Given the description of an element on the screen output the (x, y) to click on. 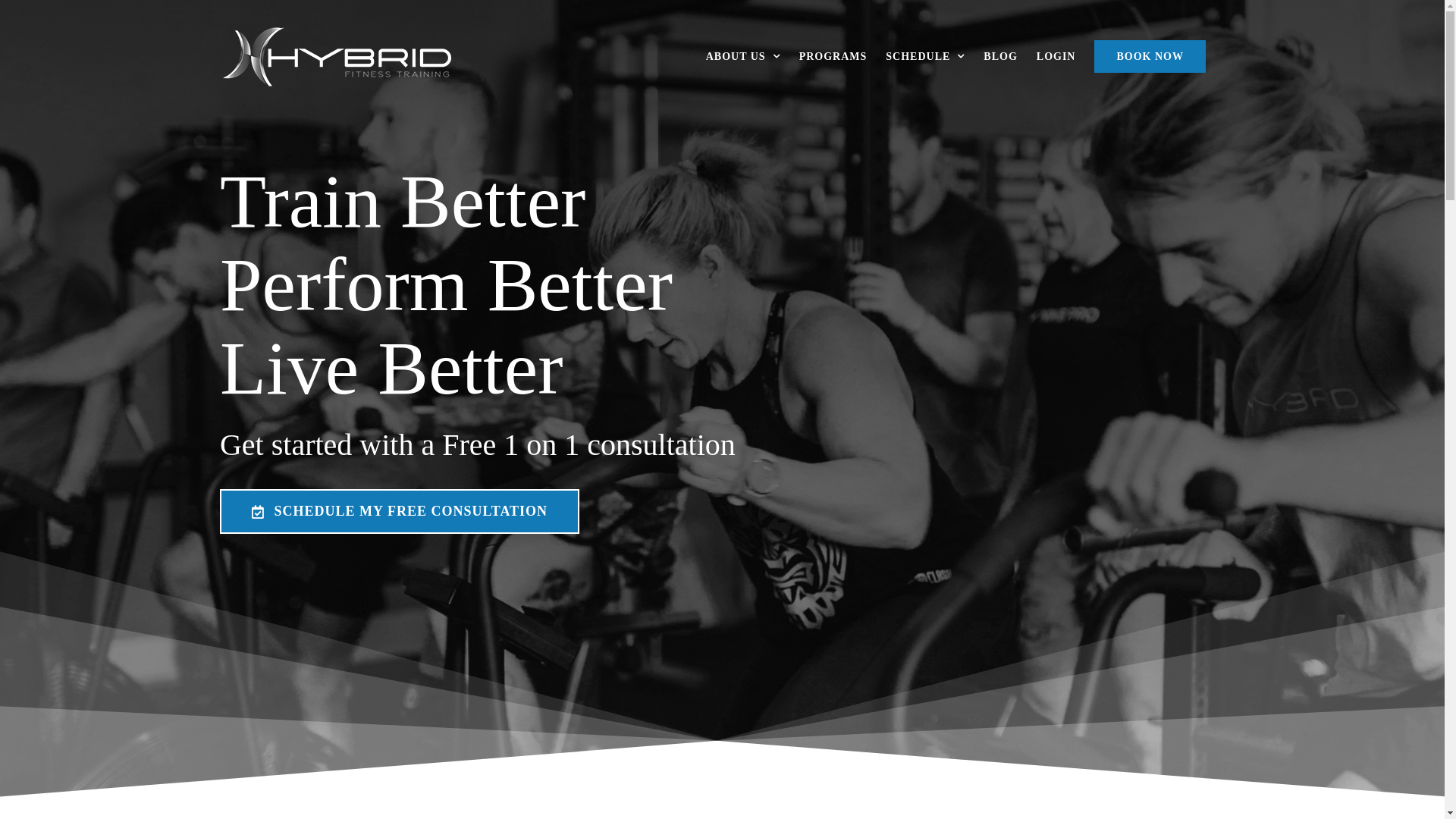
BLOG Element type: text (999, 56)
ABOUT US Element type: text (743, 56)
PROGRAMS Element type: text (833, 56)
SCHEDULE MY FREE CONSULTATION Element type: text (399, 511)
LOGIN Element type: text (1056, 56)
BOOK NOW Element type: text (1149, 56)
SCHEDULE Element type: text (924, 56)
